Given the description of an element on the screen output the (x, y) to click on. 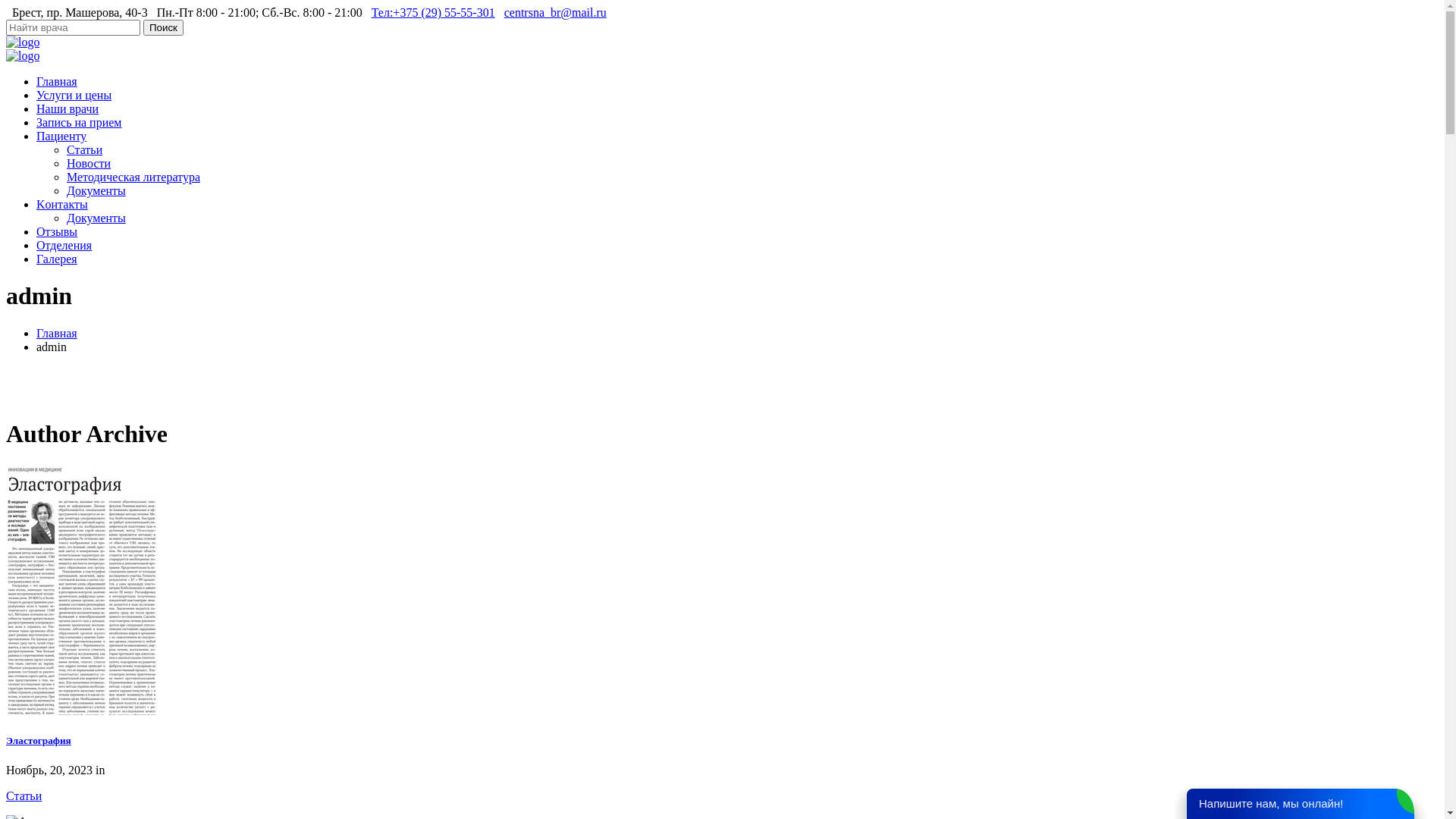
centrsna_br@mail.ru Element type: text (555, 12)
